Given the description of an element on the screen output the (x, y) to click on. 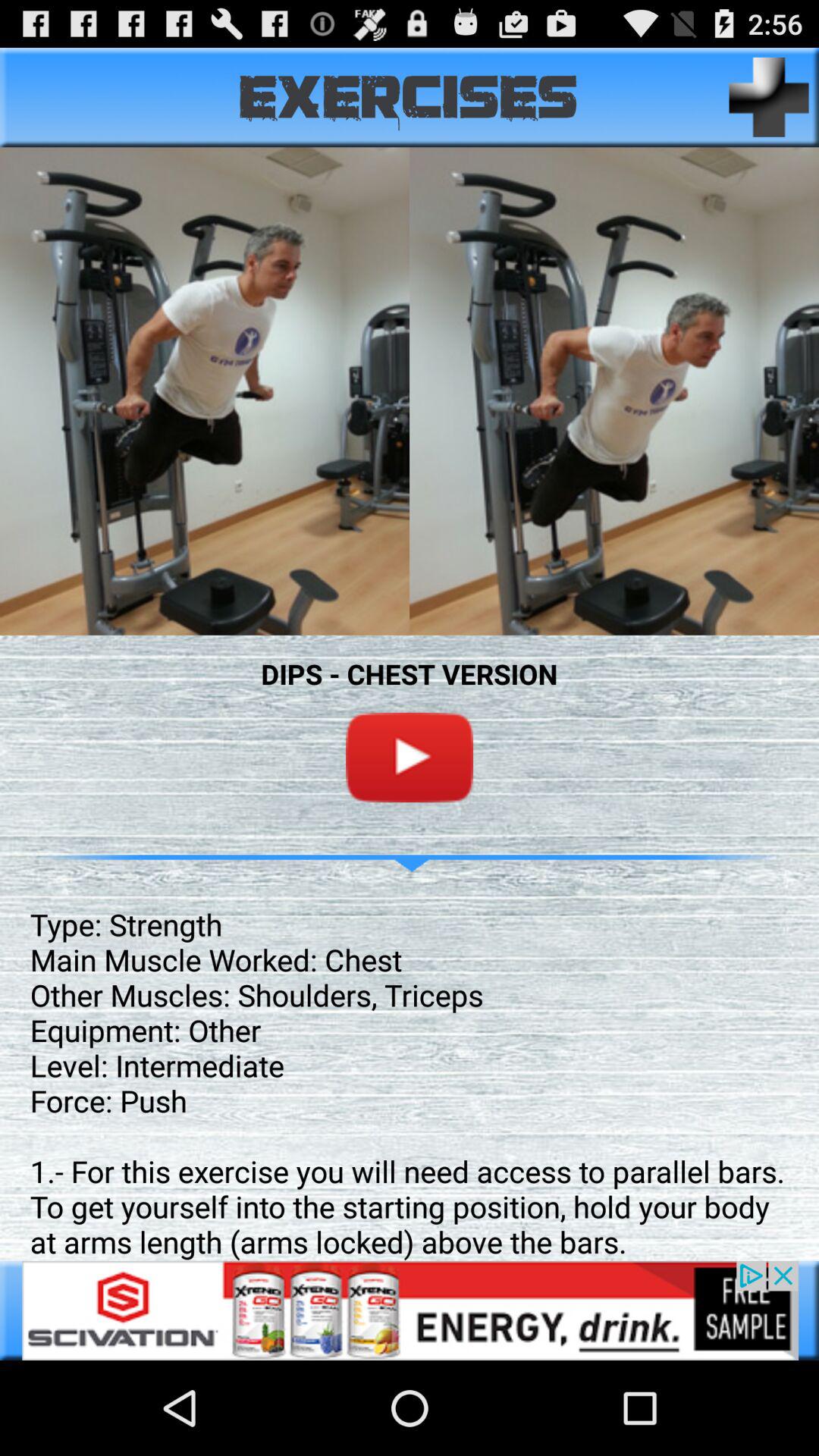
play on youtube (409, 757)
